Given the description of an element on the screen output the (x, y) to click on. 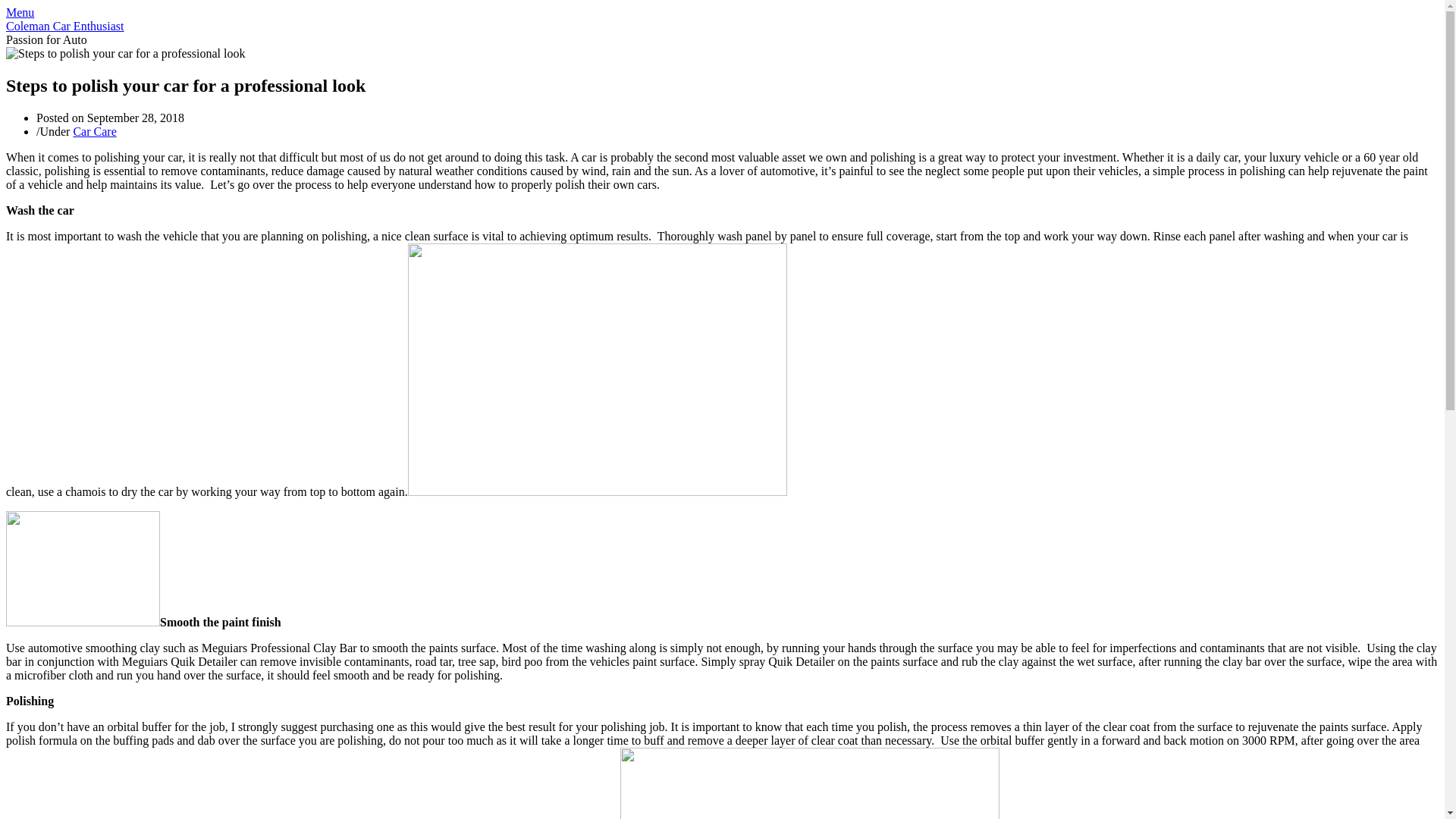
Coleman Car Enthusiast Element type: text (65, 25)
Menu Element type: text (20, 12)
Car Care Element type: text (94, 131)
